Given the description of an element on the screen output the (x, y) to click on. 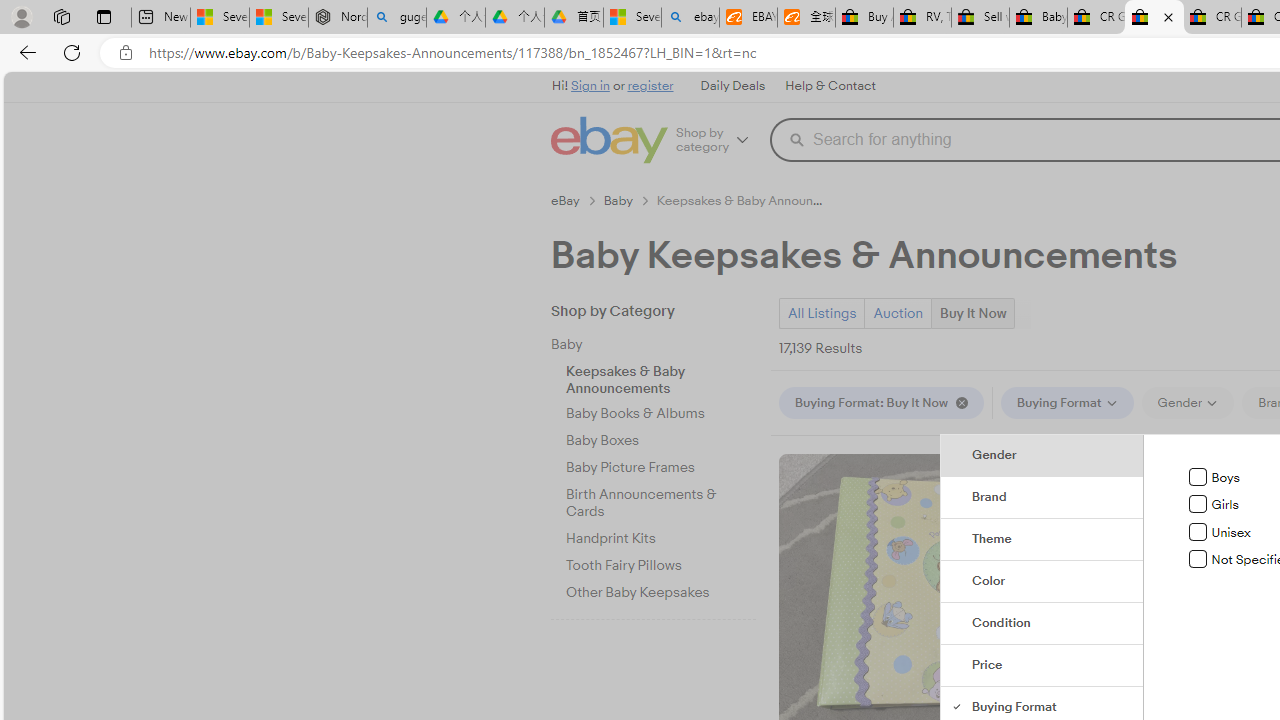
Condition (1042, 624)
Price (1042, 665)
guge yunpan - Search (396, 17)
Color (1042, 581)
Gender (1042, 455)
